Given the description of an element on the screen output the (x, y) to click on. 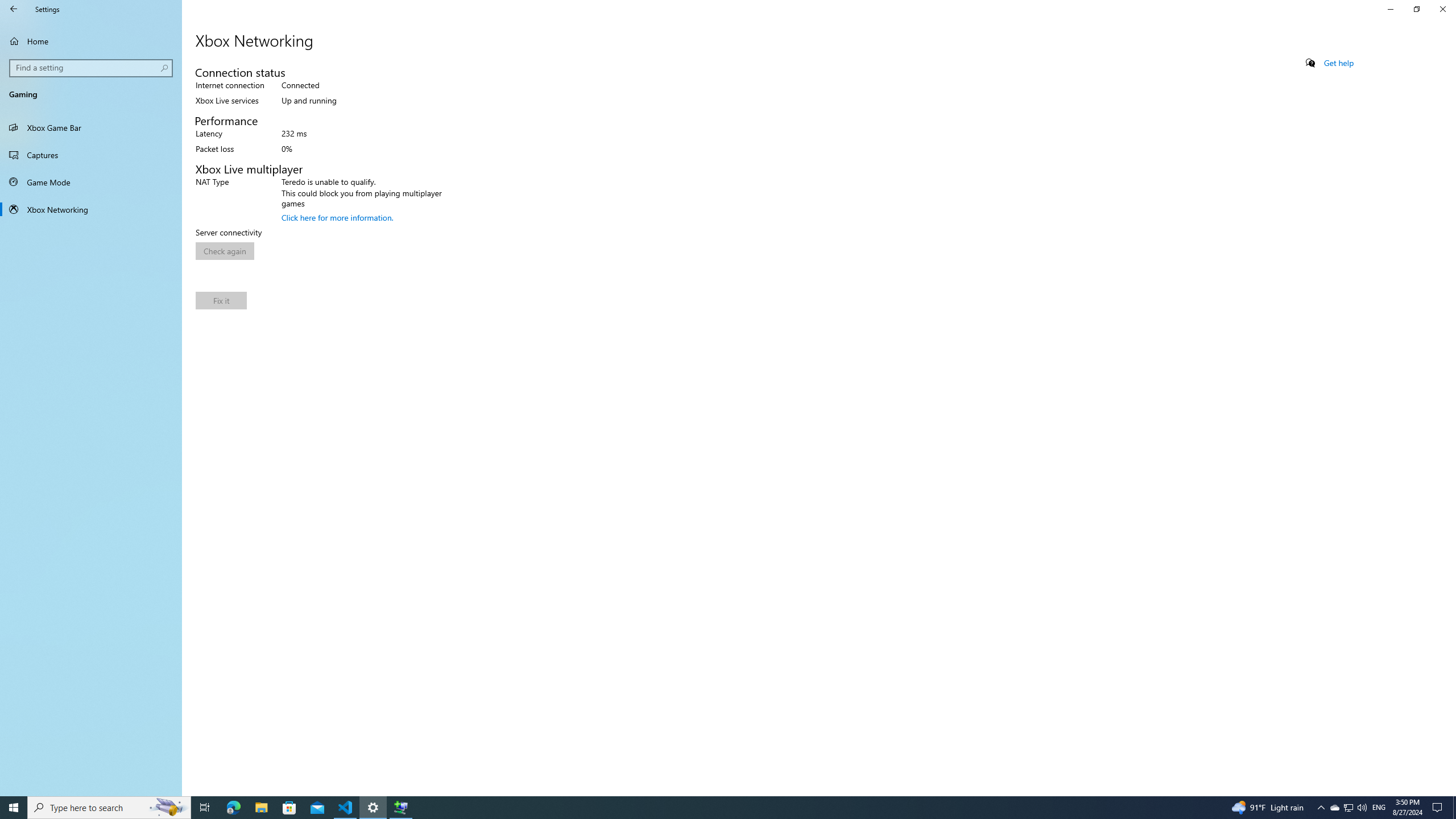
Restore Settings (1416, 9)
Action Center, No new notifications (1439, 807)
Search highlights icon opens search home window (1333, 807)
Task View (167, 807)
Back (204, 807)
Notification Chevron (13, 9)
Start (1320, 807)
User Promoted Notification Area (13, 807)
Search box, Find a setting (1347, 807)
Q2790: 100% (91, 67)
Check again (1361, 807)
Microsoft Edge (224, 250)
Xbox Networking (233, 807)
Visual Studio Code - 1 running window (91, 208)
